Given the description of an element on the screen output the (x, y) to click on. 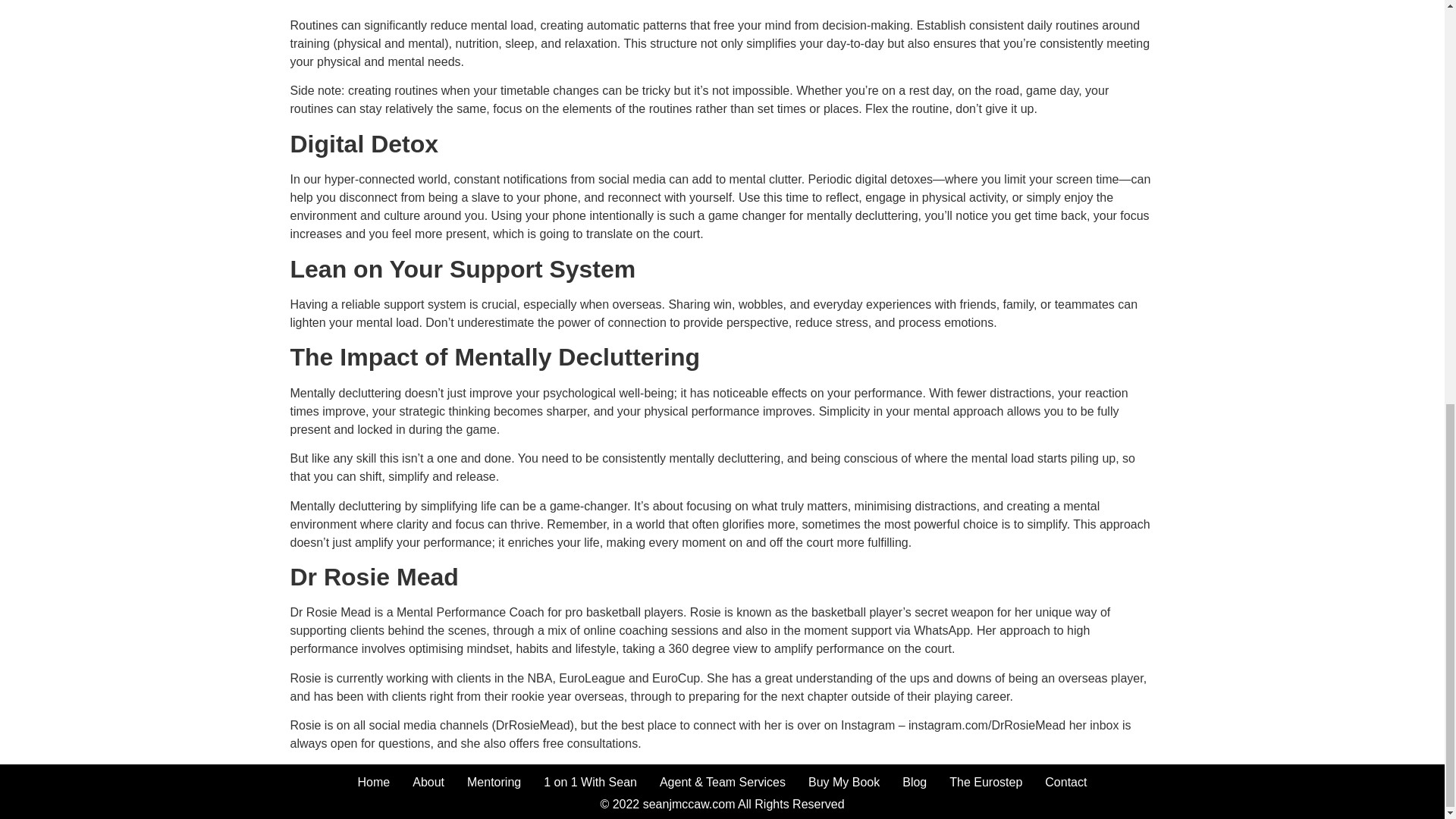
Mentoring (493, 782)
About (428, 782)
Home (373, 782)
Contact (1065, 782)
Buy My Book (843, 782)
Blog (914, 782)
The Eurostep (985, 782)
1 on 1 With Sean (589, 782)
